Given the description of an element on the screen output the (x, y) to click on. 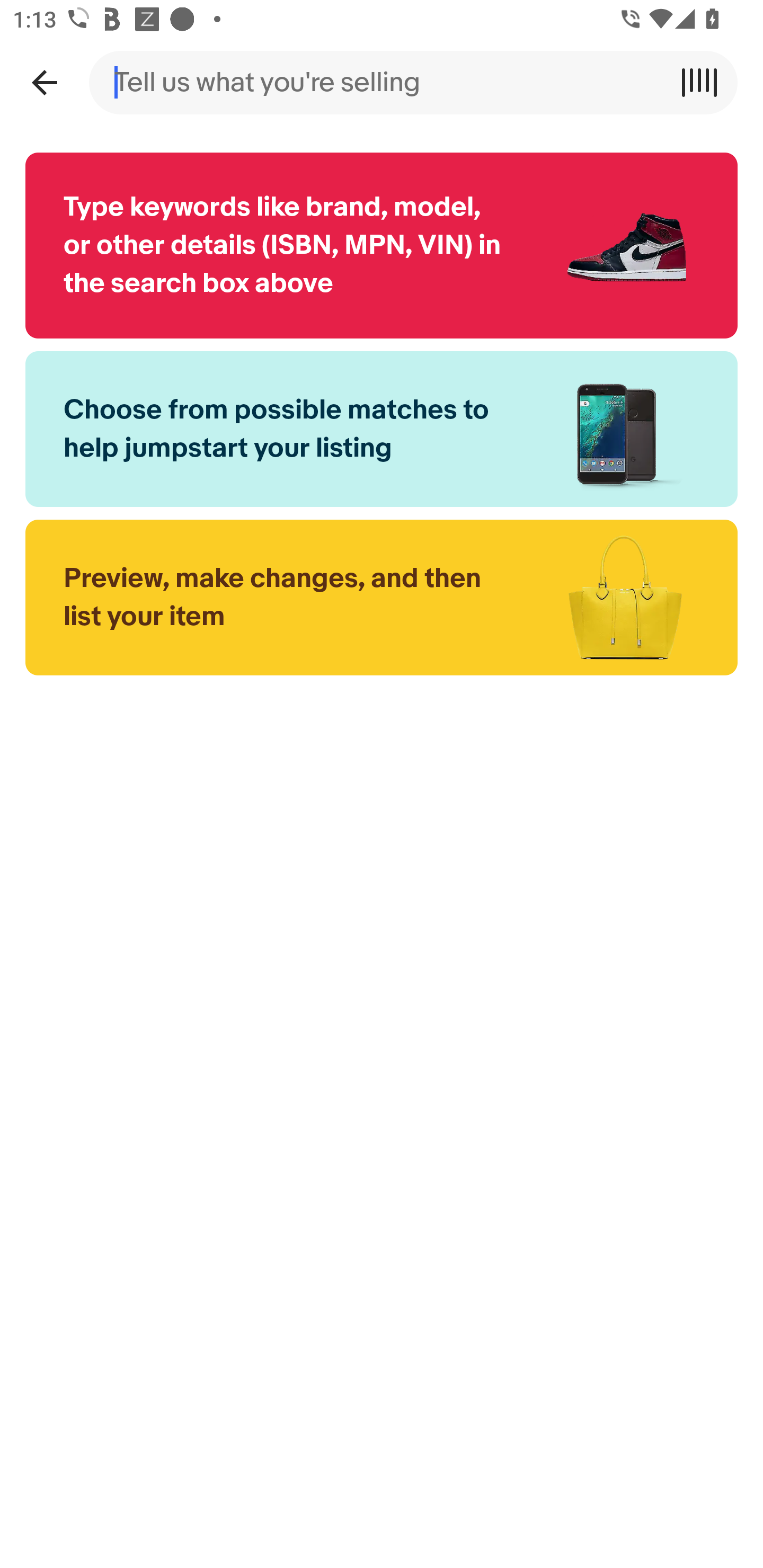
Navigate up (44, 82)
Scan a barcode (705, 82)
Tell us what you're selling (381, 82)
